Given the description of an element on the screen output the (x, y) to click on. 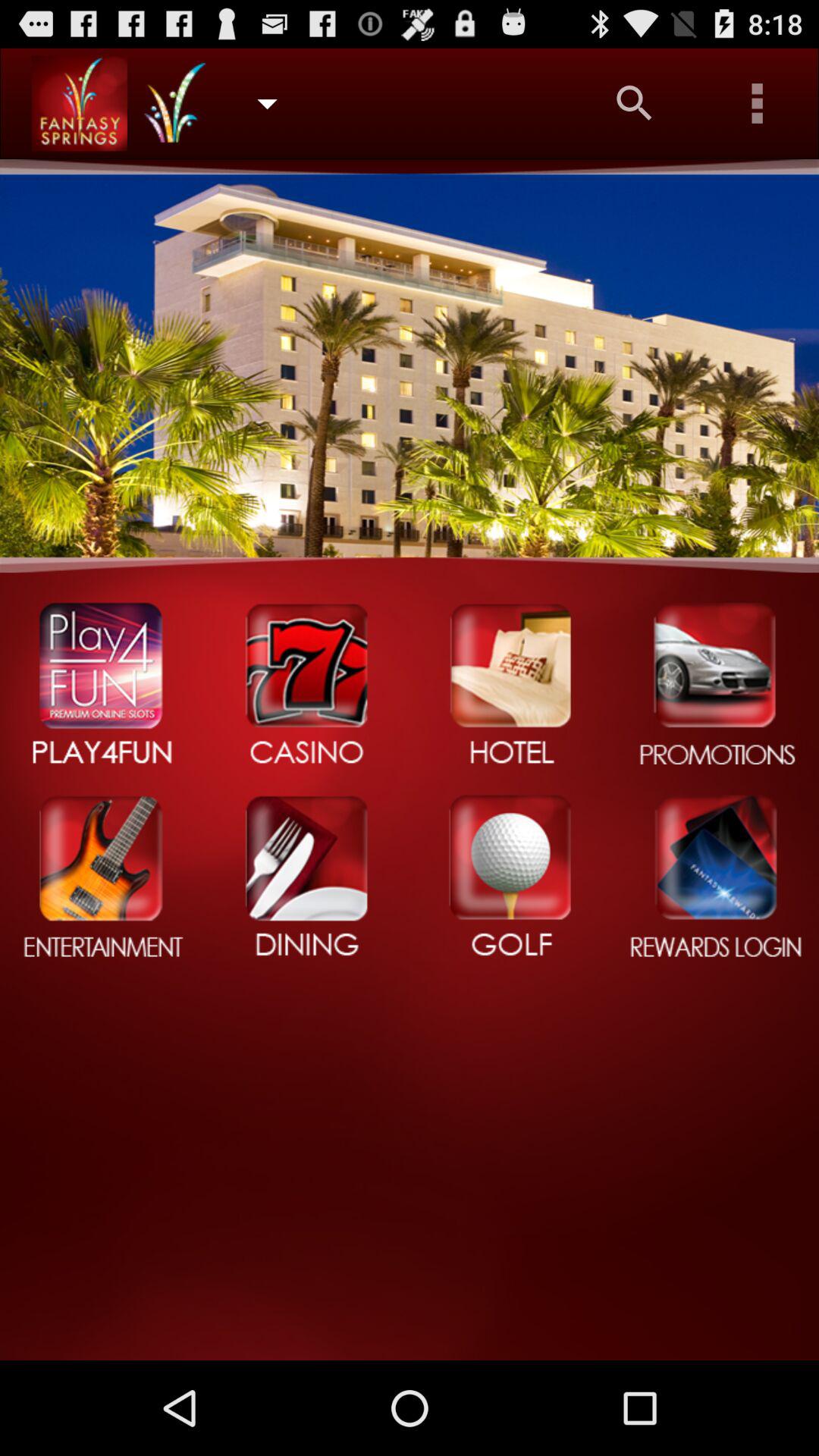
settings option (757, 103)
